Given the description of an element on the screen output the (x, y) to click on. 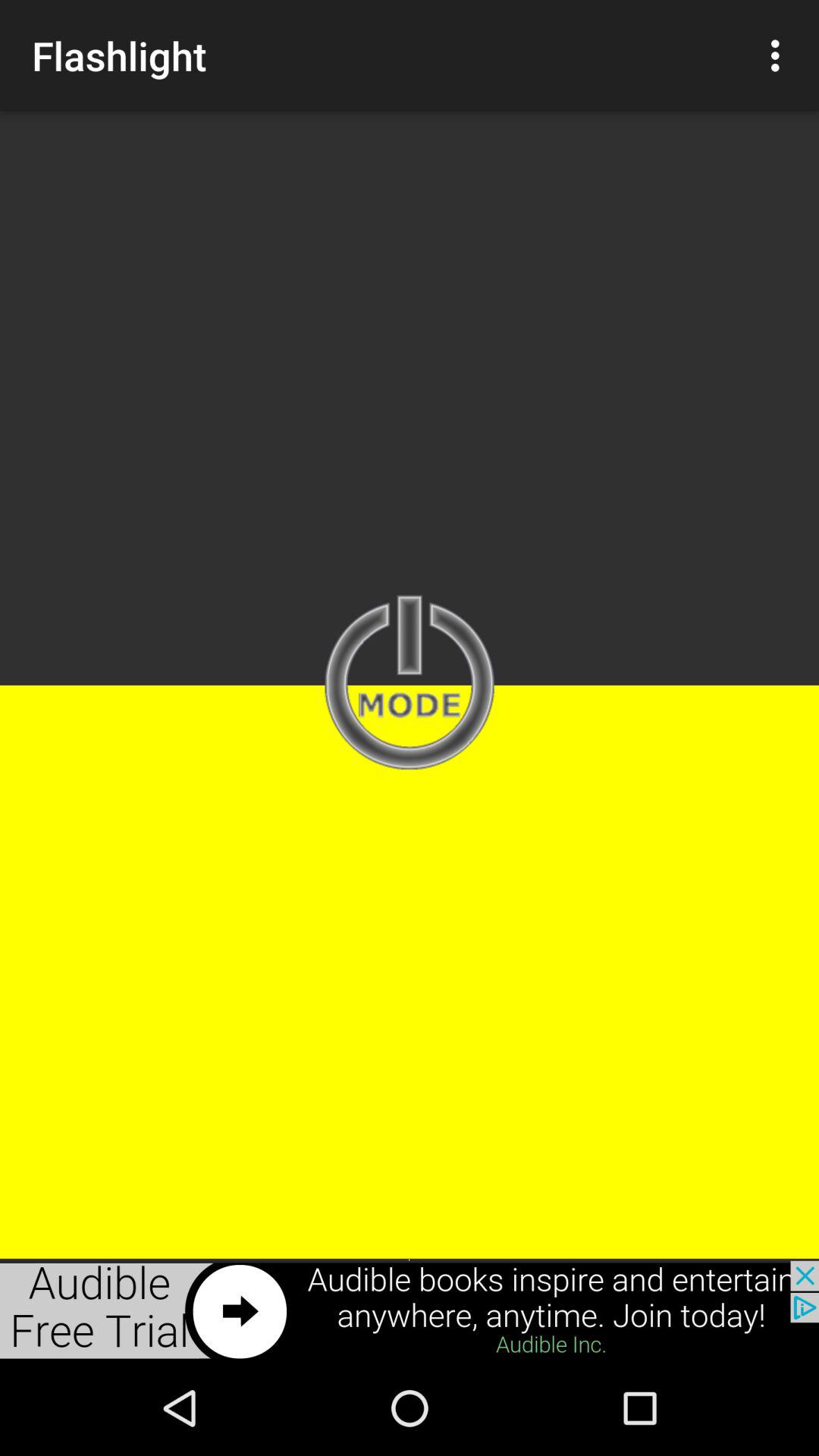
advertisement (409, 1310)
